Given the description of an element on the screen output the (x, y) to click on. 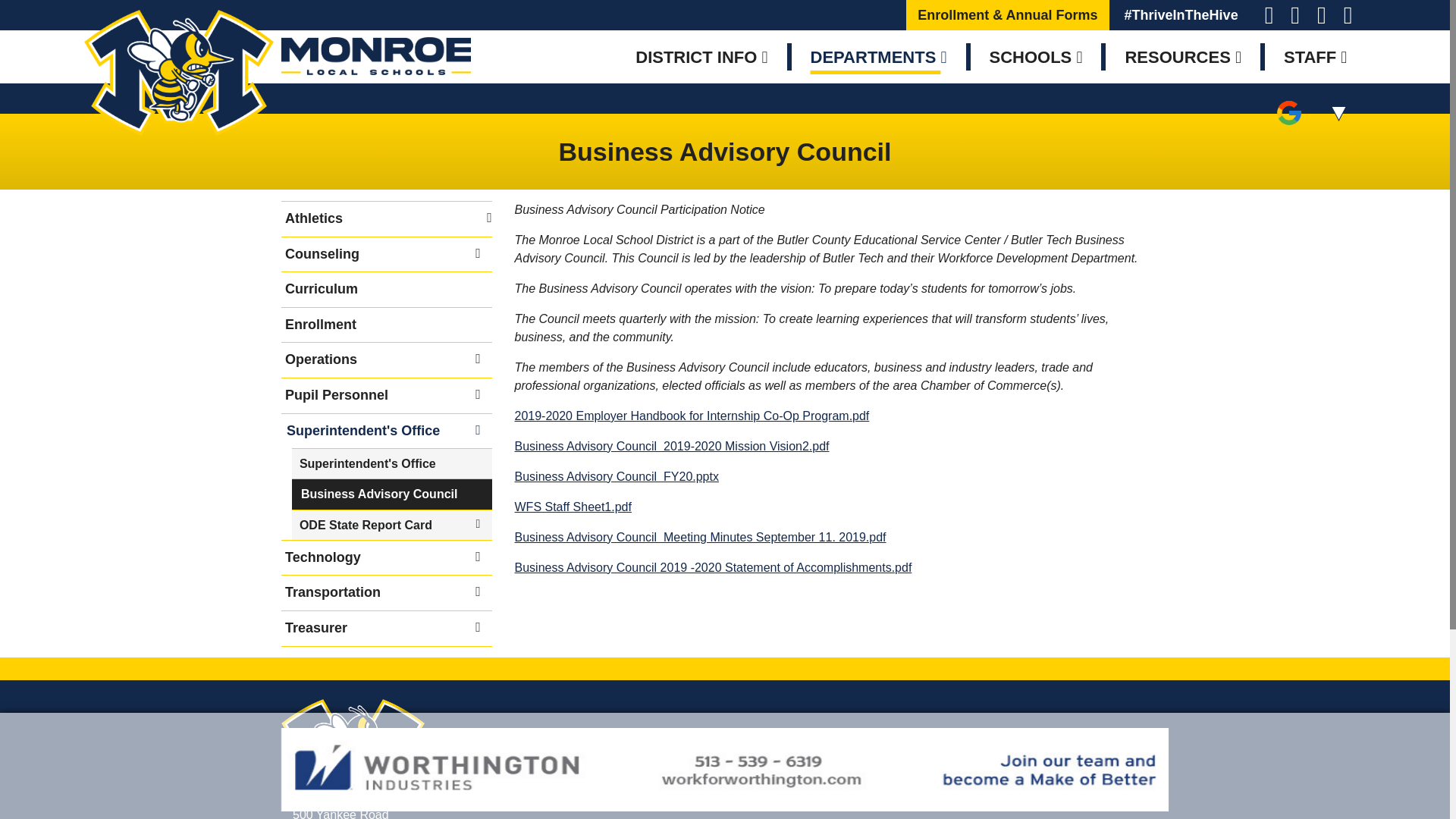
DEPARTMENTS (879, 56)
DISTRICT INFO (700, 56)
RESOURCES (1182, 56)
SCHOOLS (1036, 56)
